Given the description of an element on the screen output the (x, y) to click on. 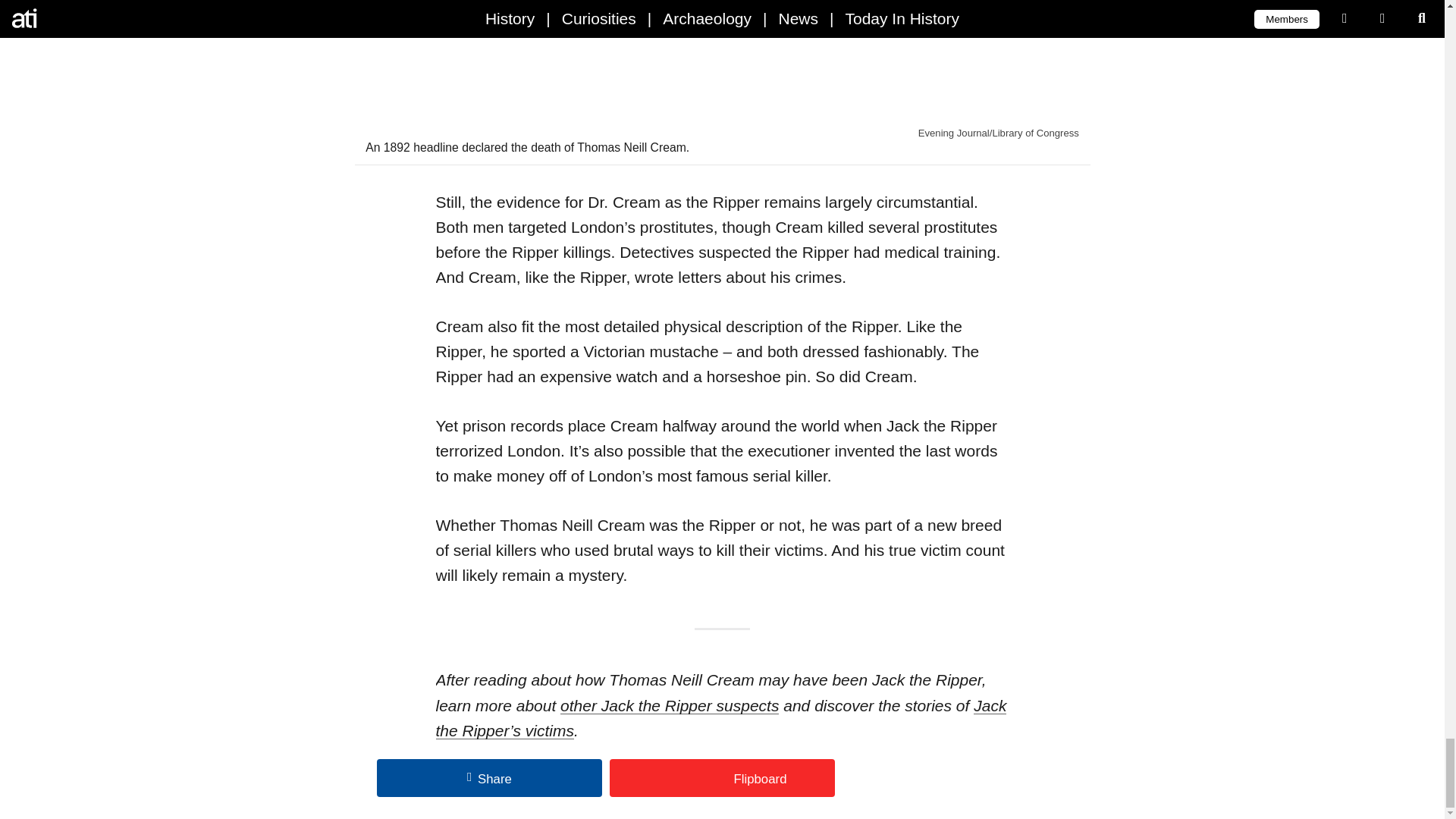
Flipboard (722, 777)
Share (489, 777)
other Jack the Ripper suspects (669, 705)
